Given the description of an element on the screen output the (x, y) to click on. 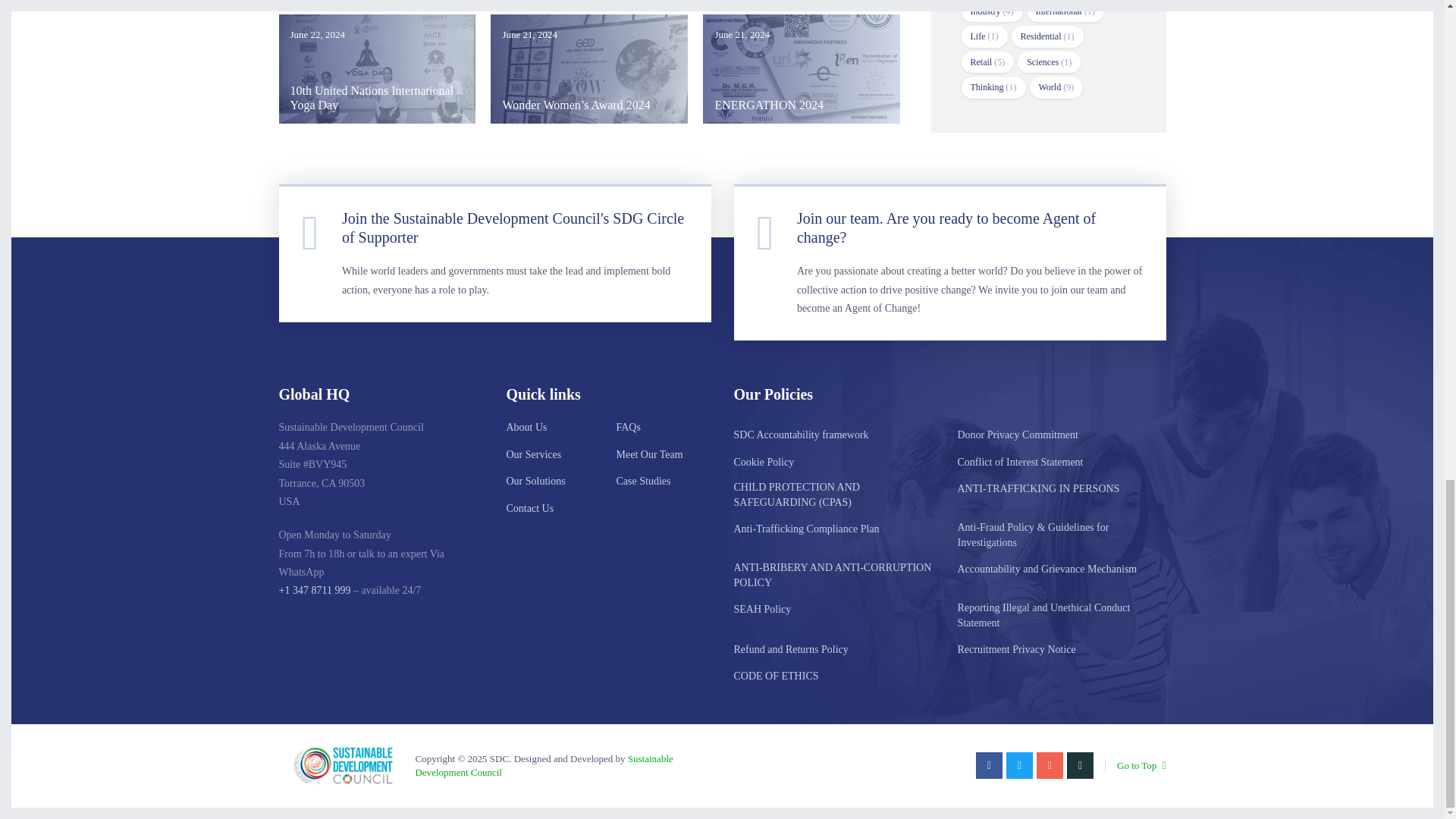
image-1 (377, 68)
WhatsApp Image 2024-04-27 at 4.57.46 PM (801, 68)
